Given the description of an element on the screen output the (x, y) to click on. 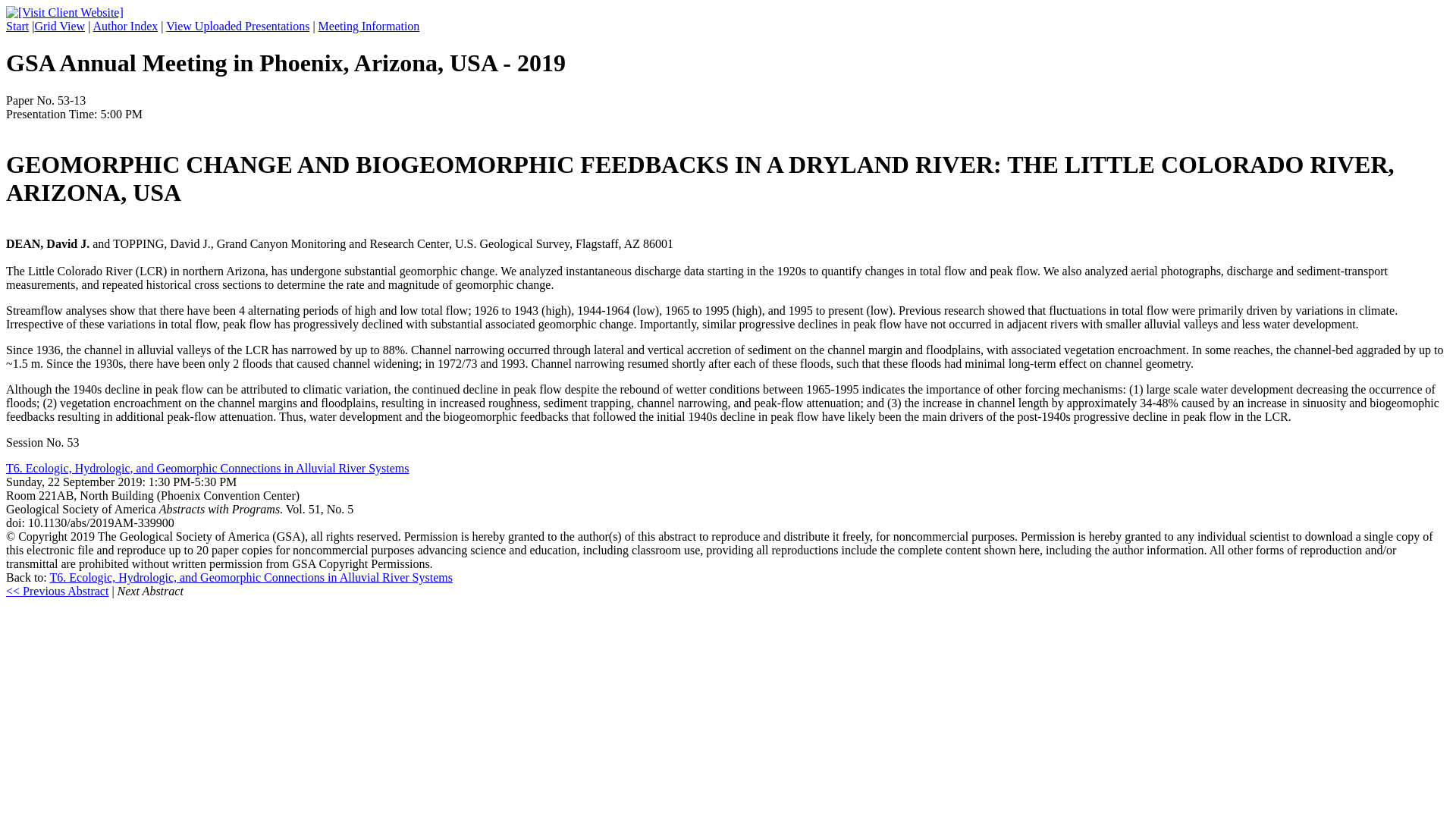
Grid View (58, 25)
Author Index (125, 25)
View Uploaded Presentations (236, 25)
Meeting Information (369, 25)
Start (17, 25)
